Given the description of an element on the screen output the (x, y) to click on. 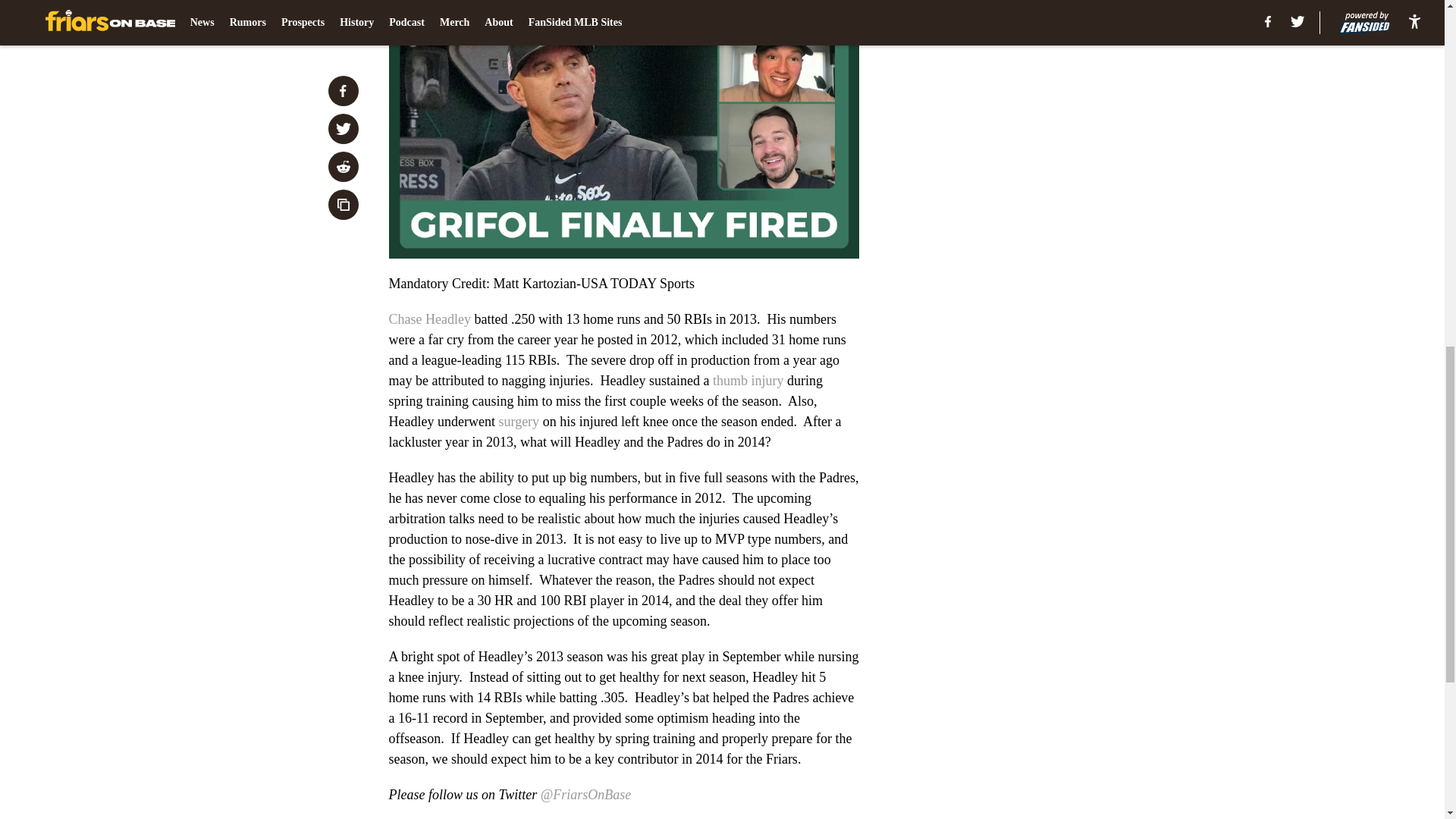
surgery (517, 421)
Chase Headley (429, 319)
thumb injury (748, 380)
